Given the description of an element on the screen output the (x, y) to click on. 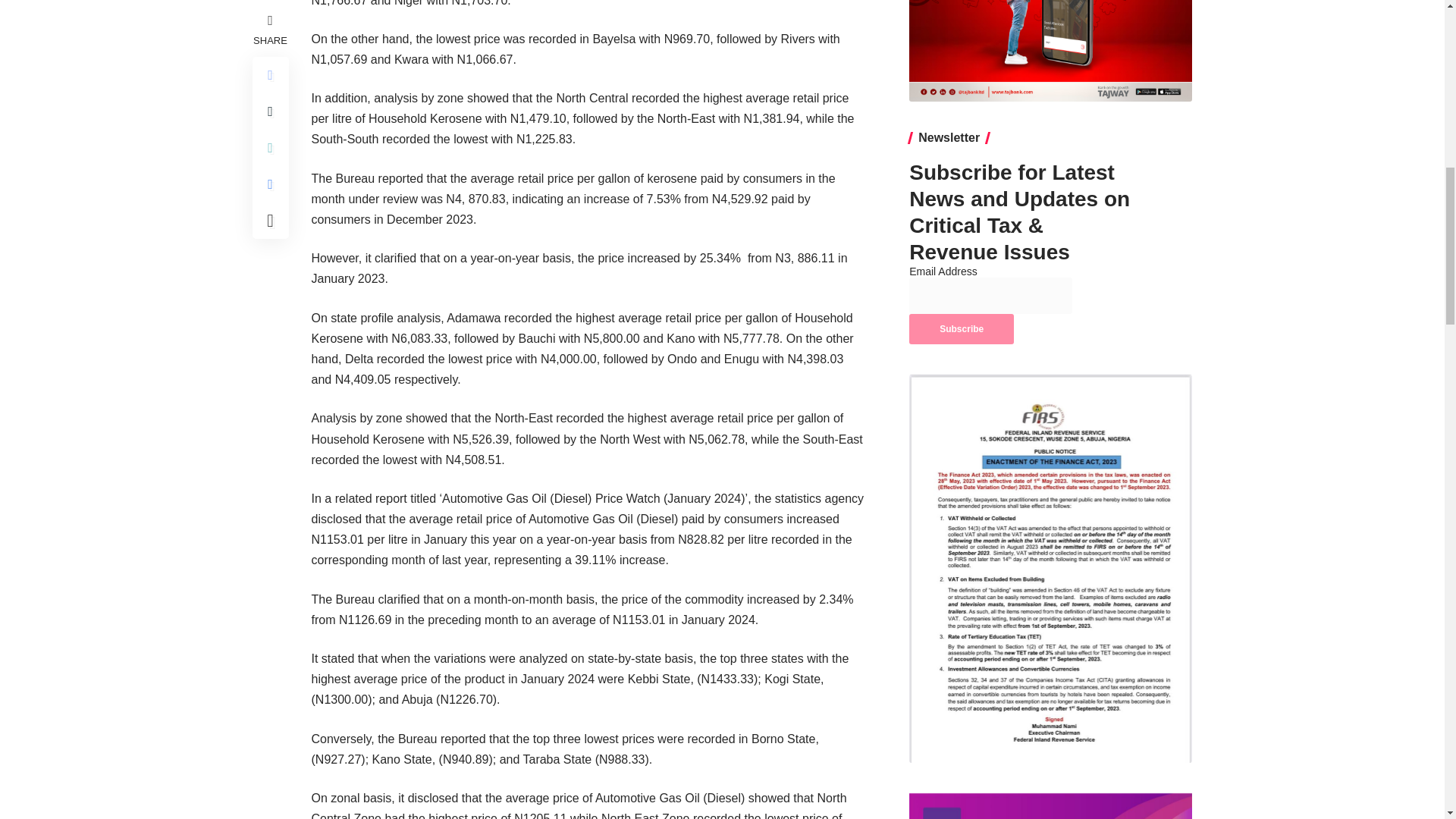
Subscribe (960, 328)
